Given the description of an element on the screen output the (x, y) to click on. 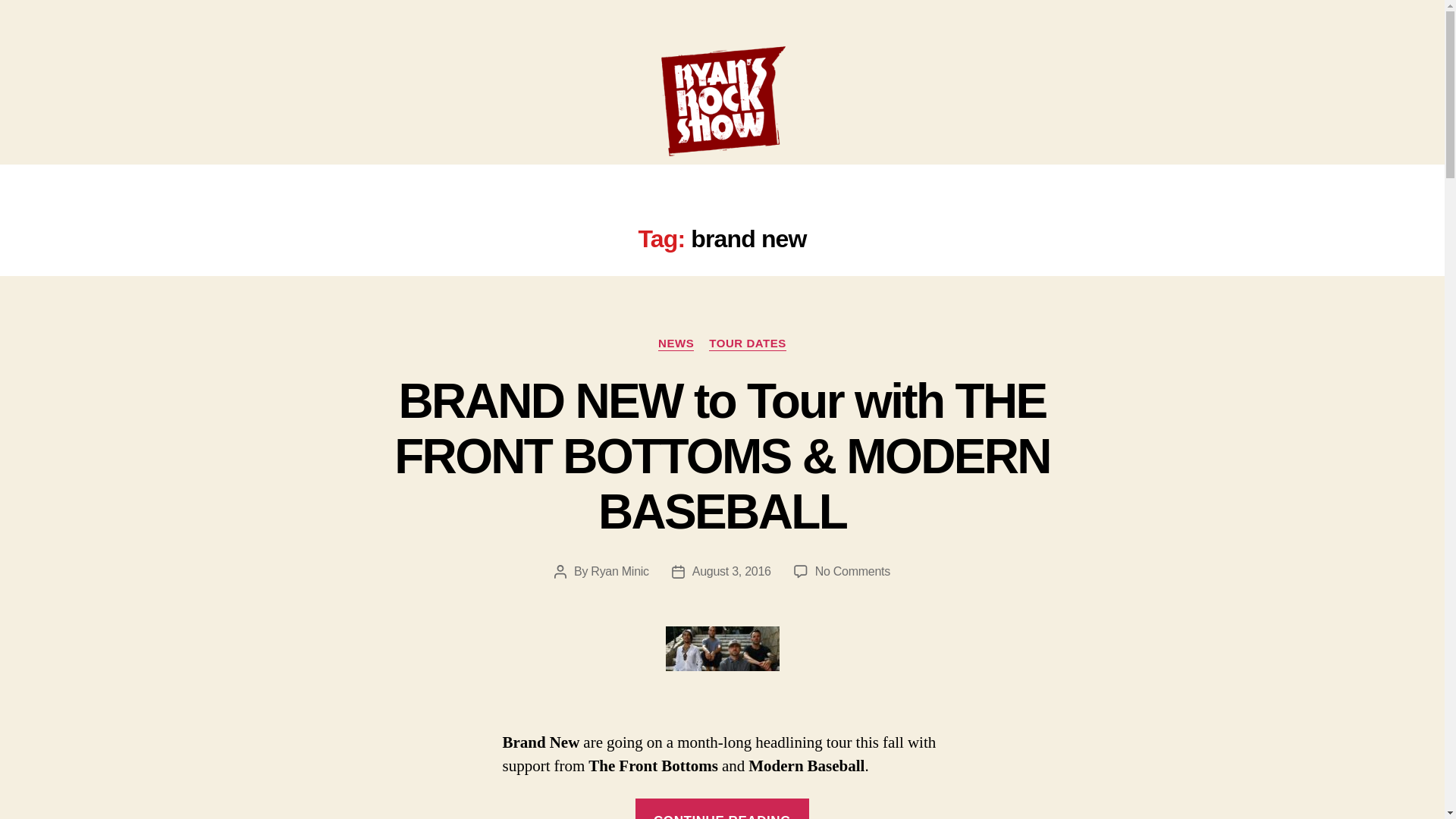
cropped-ryans-rock-logo.png (722, 101)
August 3, 2016 (732, 571)
TOUR DATES (747, 344)
Ryan Minic (619, 571)
NEWS (676, 344)
